Given the description of an element on the screen output the (x, y) to click on. 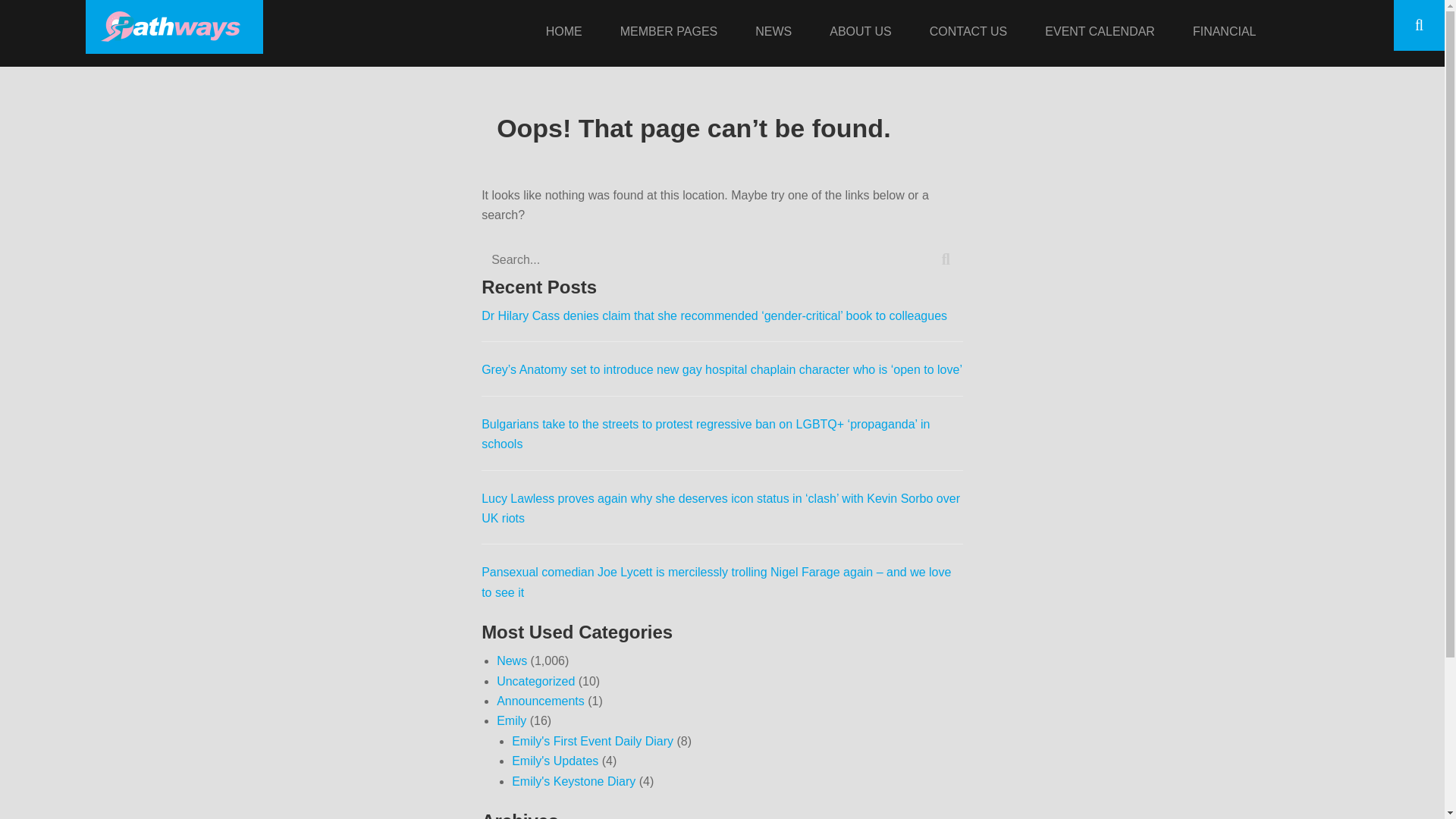
EVENT CALENDAR (1099, 33)
PATHWAYS (304, 23)
FINANCIAL (1224, 33)
MEMBER PAGES (668, 33)
CONTACT US (968, 33)
Search for: (722, 259)
ABOUT US (860, 33)
